Given the description of an element on the screen output the (x, y) to click on. 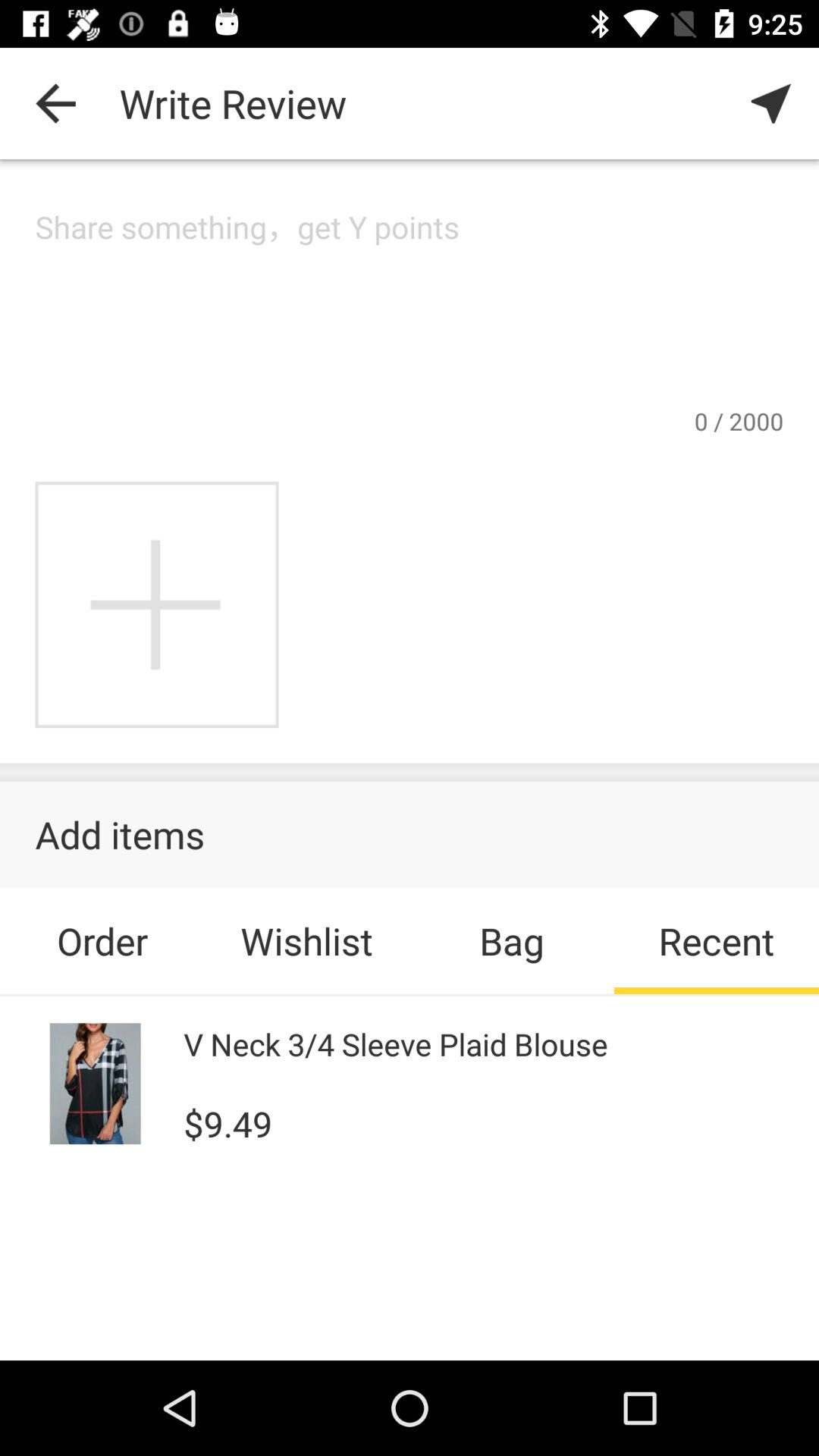
launch the item next to write review item (771, 103)
